Given the description of an element on the screen output the (x, y) to click on. 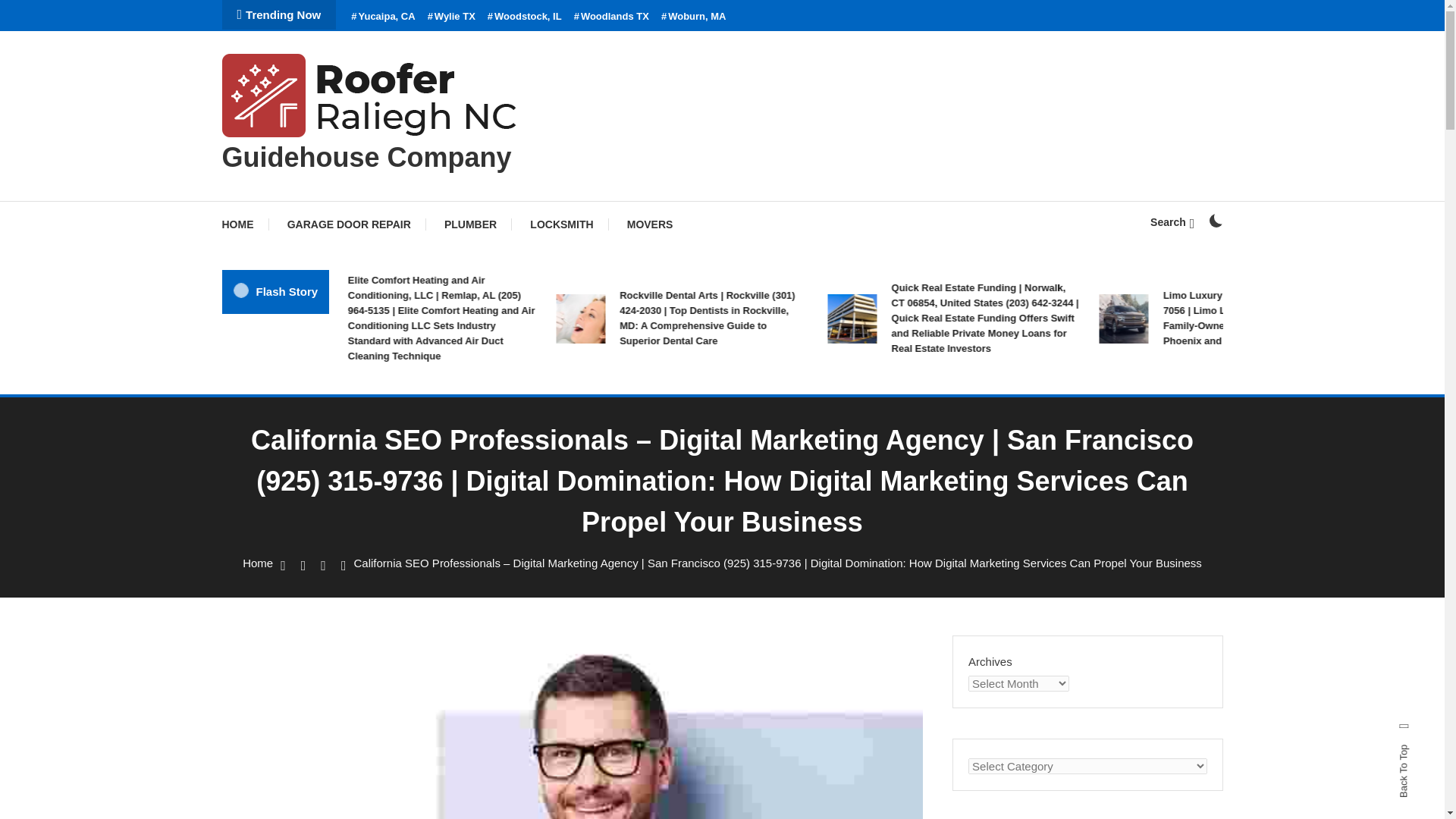
Wylie TX (452, 16)
GARAGE DOOR REPAIR (349, 224)
Home (258, 562)
Search (768, 434)
MOVERS (649, 224)
LOCKSMITH (561, 224)
Woodlands TX (611, 16)
PLUMBER (470, 224)
Woburn, MA (693, 16)
Guidehouse Company (366, 156)
